Given the description of an element on the screen output the (x, y) to click on. 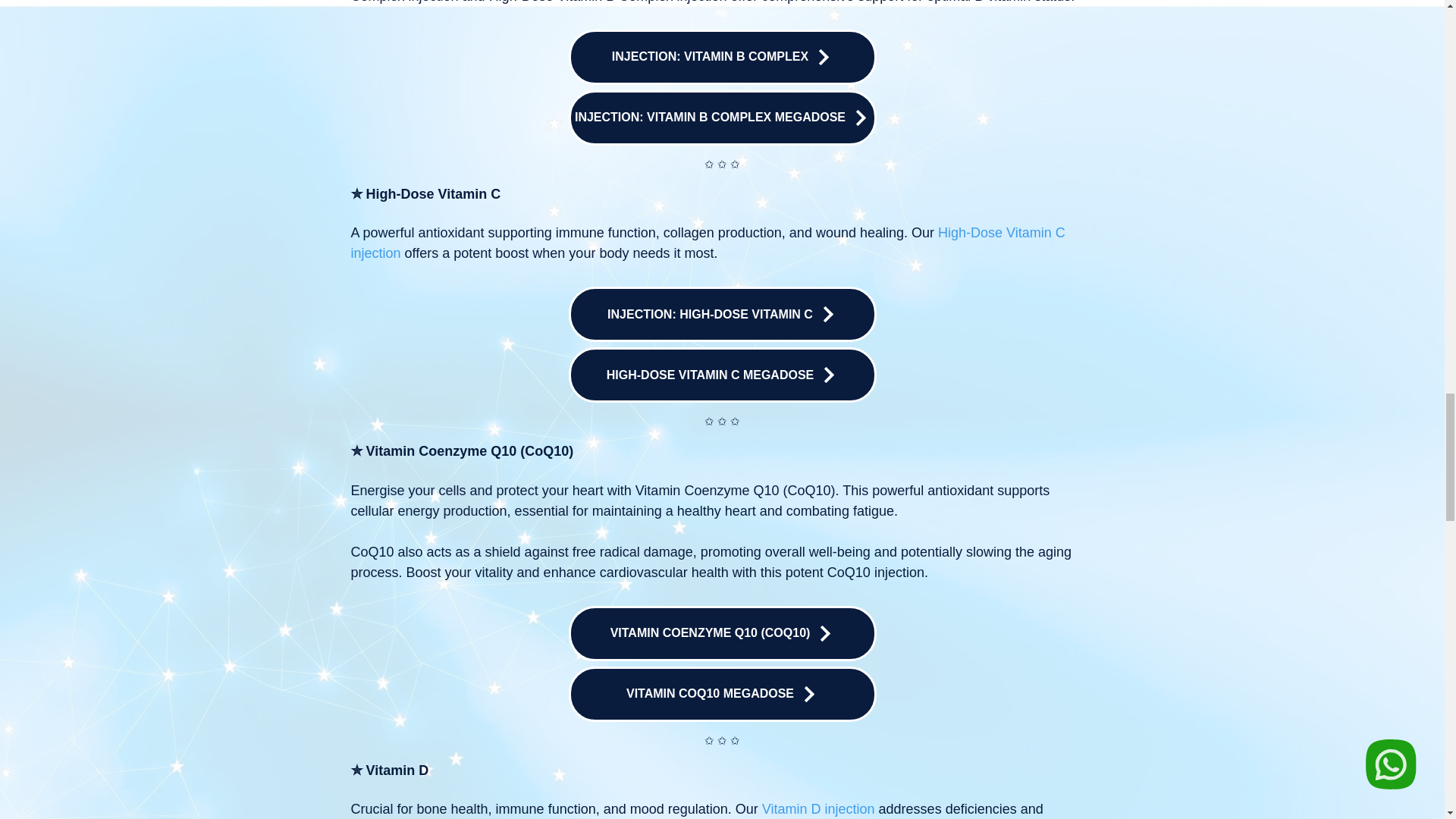
INJECTION: VITAMIN B COMPLEX (722, 57)
Vitamin D injection (818, 808)
High-Dose Vitamin C injection (707, 243)
INJECTION: HIGH-DOSE VITAMIN C (722, 314)
VITAMIN COQ10 MEGADOSE (722, 693)
HIGH-DOSE VITAMIN C MEGADOSE (722, 374)
INJECTION: VITAMIN B COMPLEX MEGADOSE (722, 117)
